Given the description of an element on the screen output the (x, y) to click on. 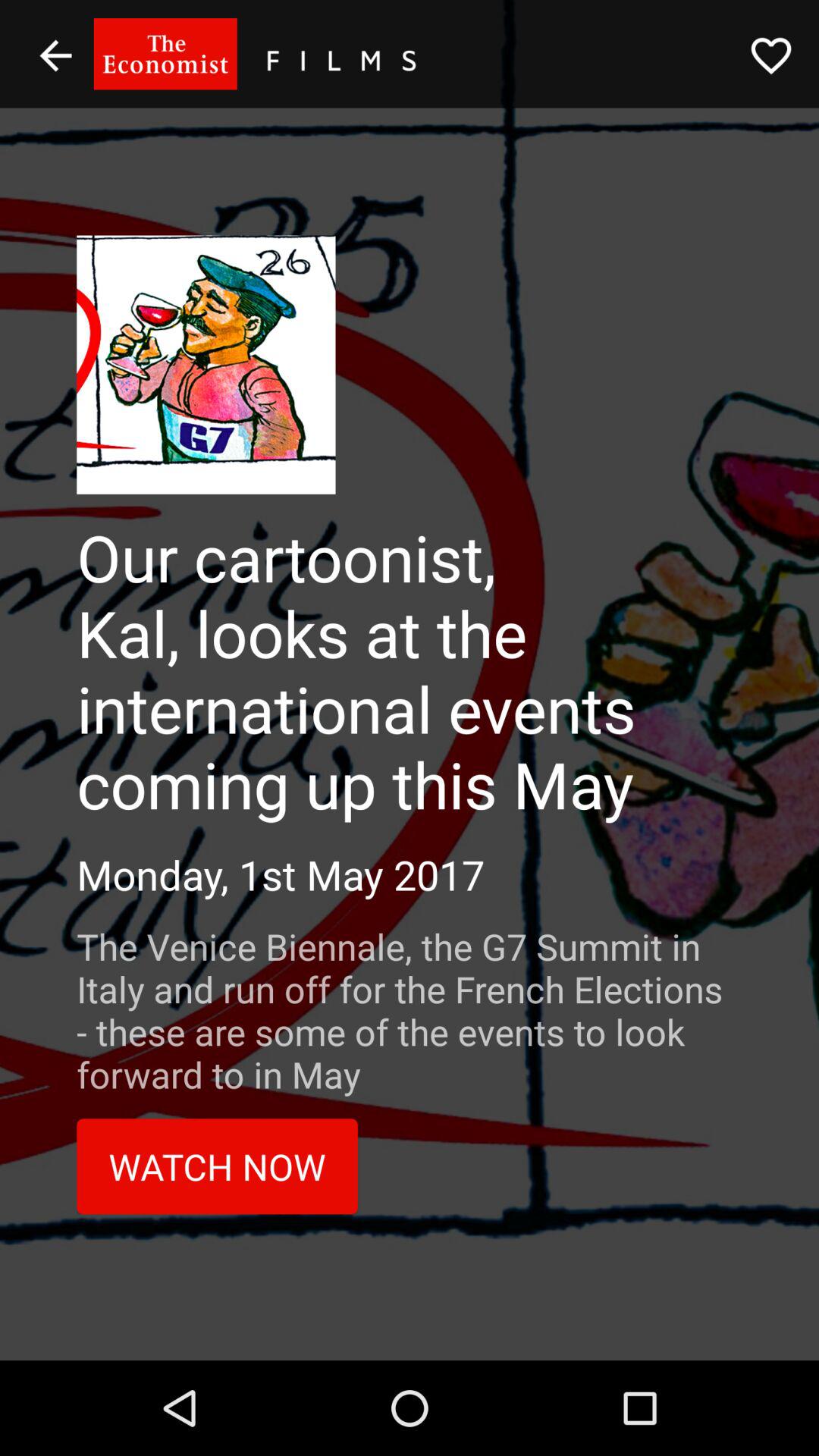
launch icon above the our cartoonist kal item (771, 55)
